Given the description of an element on the screen output the (x, y) to click on. 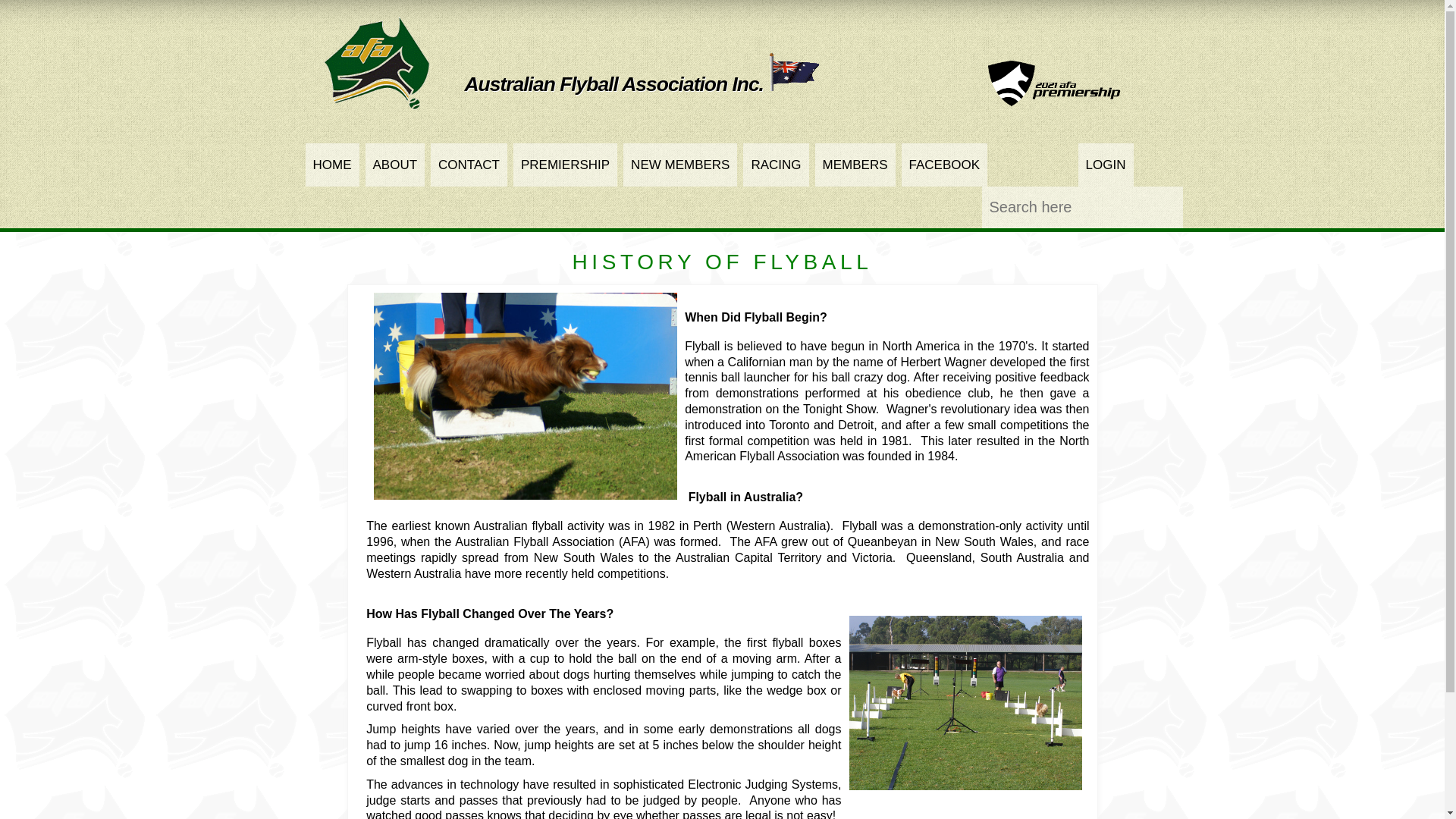
ABOUT Element type: text (395, 164)
MEMBERS Element type: text (855, 164)
Australian Flyball Association Inc. Element type: text (641, 83)
RACING Element type: text (775, 164)
PREMIERSHIP Element type: text (565, 164)
HOME Element type: text (331, 164)
FACEBOOK Element type: text (944, 164)
NEW MEMBERS Element type: text (680, 164)
LOGIN Element type: text (1105, 164)
CONTACT Element type: text (468, 164)
